Given the description of an element on the screen output the (x, y) to click on. 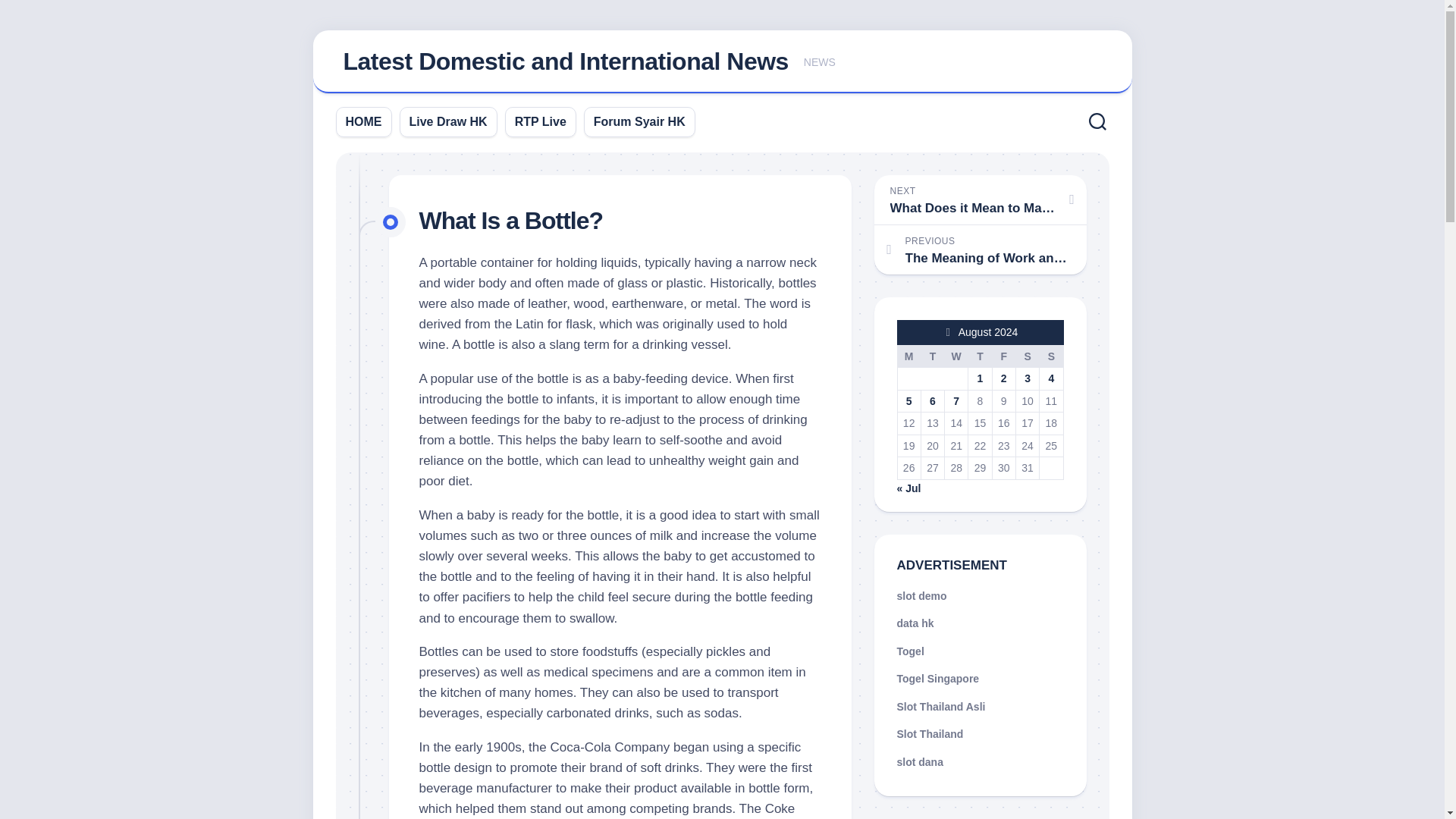
Tuesday (931, 355)
Togel (909, 650)
RTP Live (540, 121)
Friday (979, 199)
slot dana (1002, 355)
Slot Thailand (919, 761)
data hk (929, 734)
Monday (914, 623)
Thursday (908, 355)
HOME (979, 355)
Sunday (363, 121)
Togel Singapore (1050, 355)
Live Draw HK (937, 678)
